Given the description of an element on the screen output the (x, y) to click on. 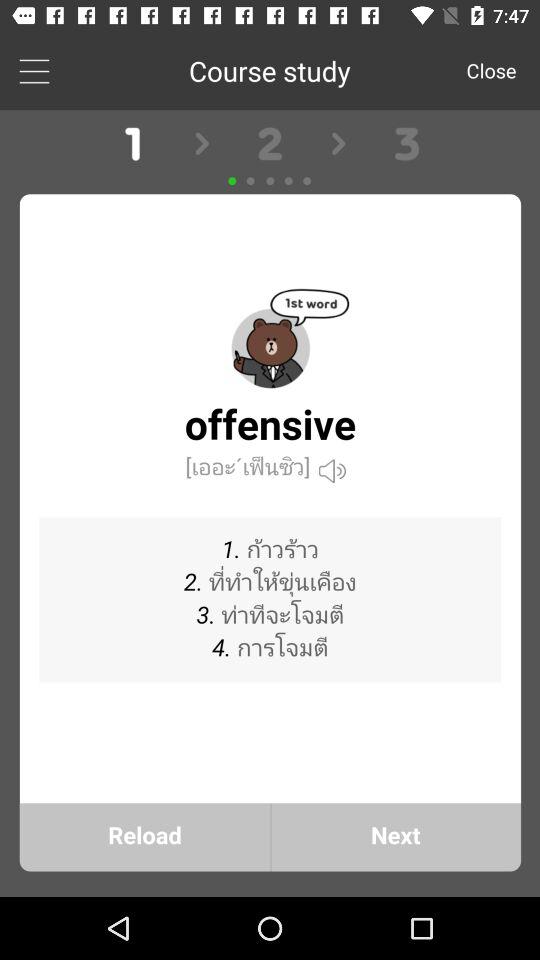
course study front page (270, 503)
